Given the description of an element on the screen output the (x, y) to click on. 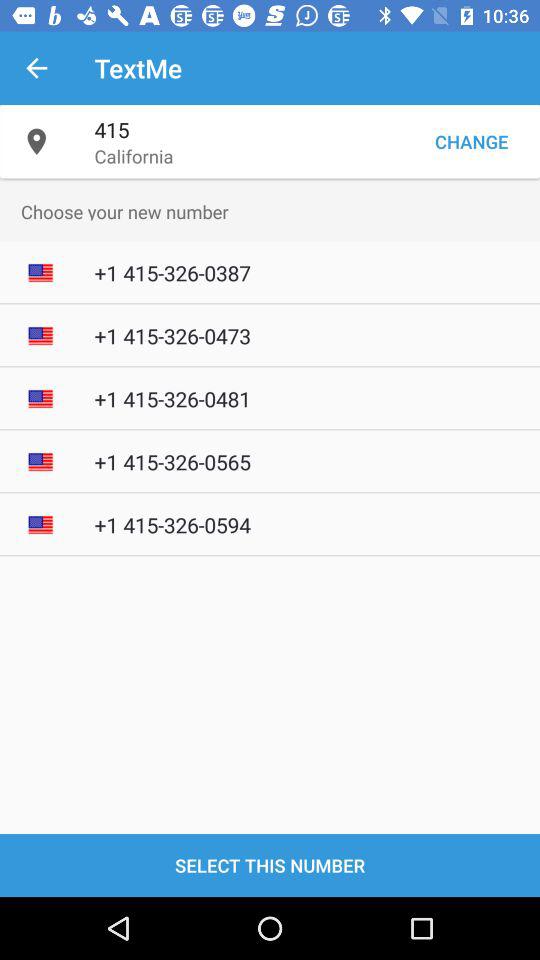
choose select this number (270, 864)
